Given the description of an element on the screen output the (x, y) to click on. 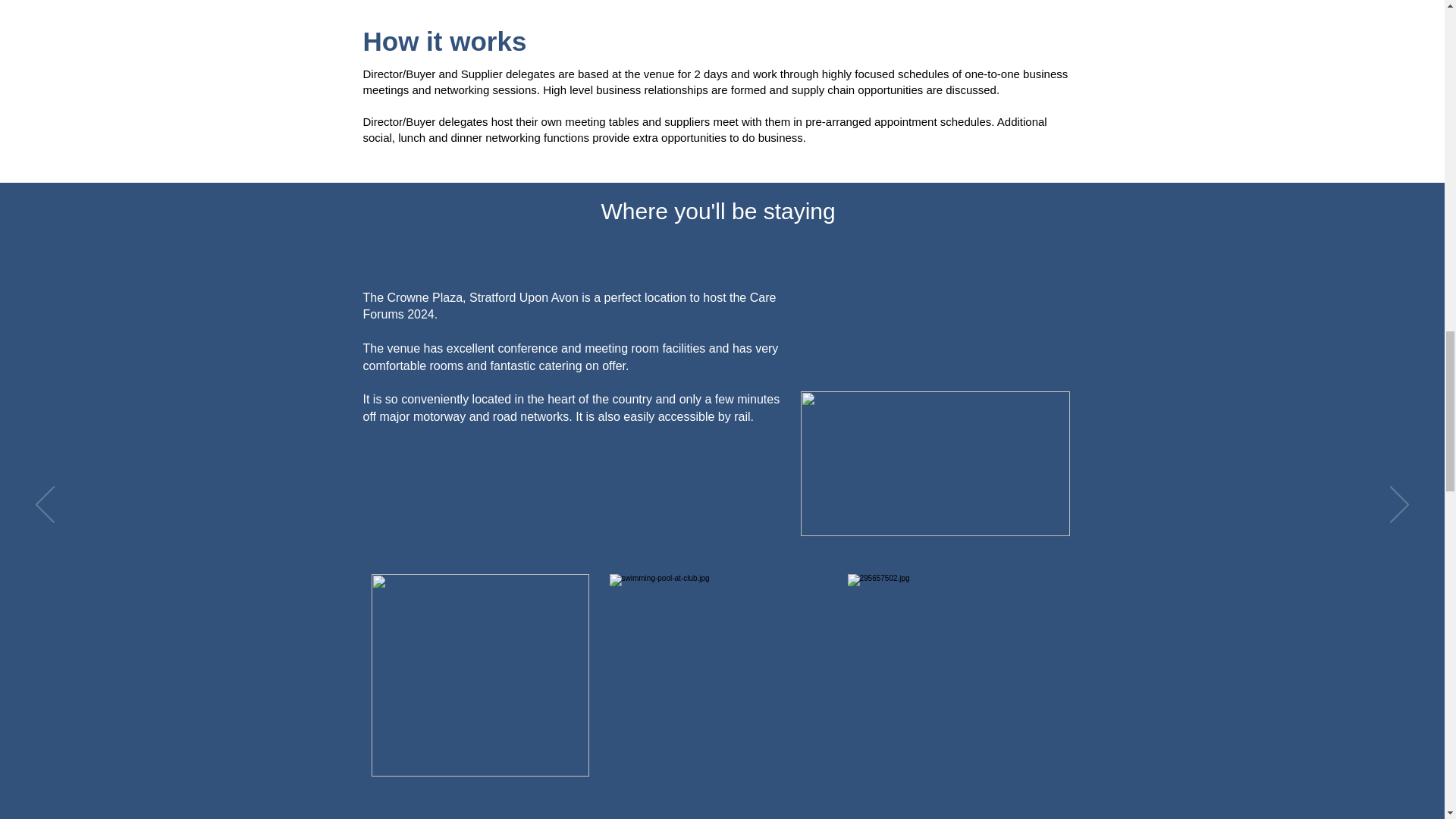
Crowne plaza.JPG (718, 675)
Crowne plaza.JPG (956, 675)
Crowne plaza.JPG (480, 675)
